Given the description of an element on the screen output the (x, y) to click on. 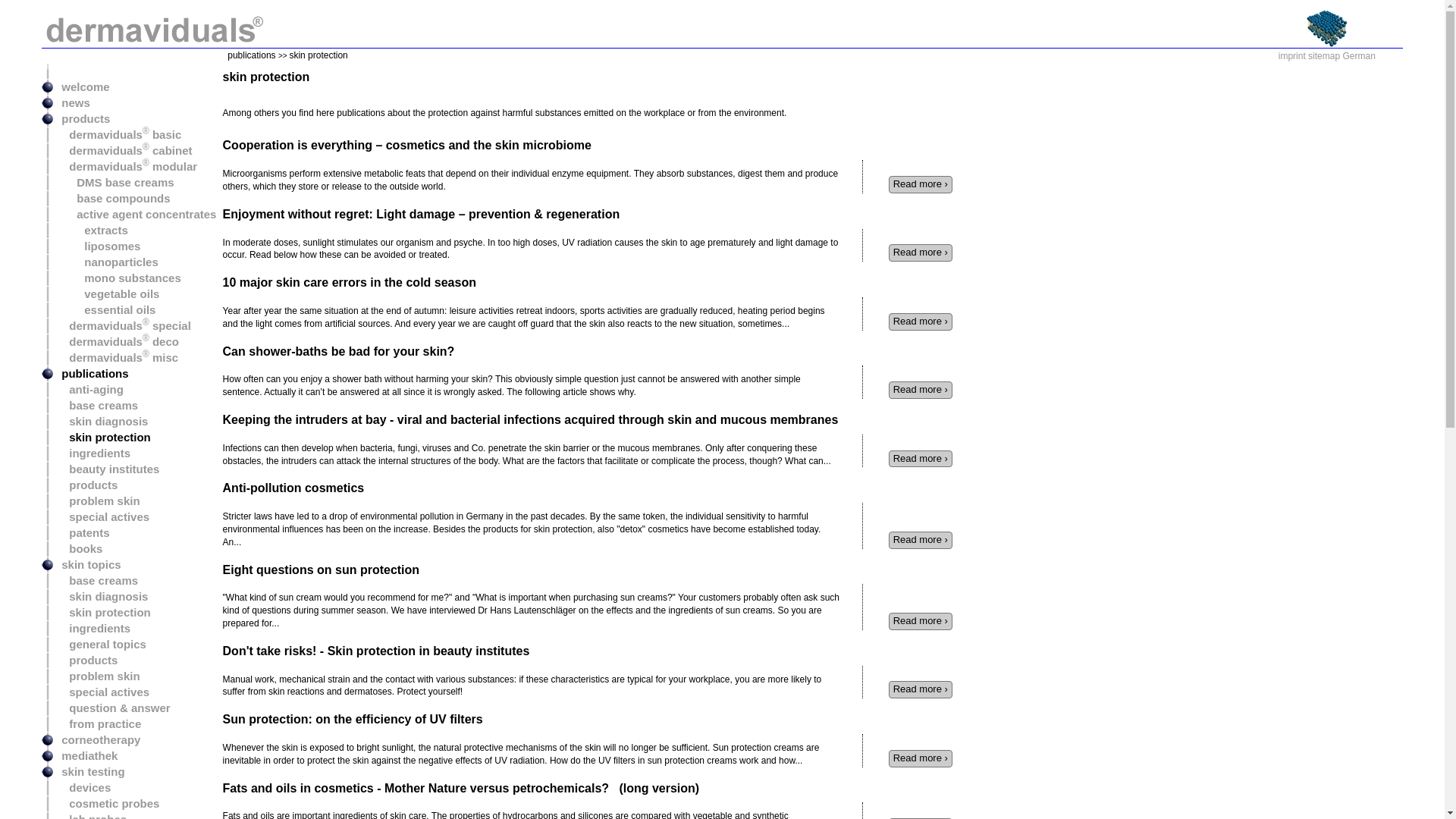
welcome (81, 86)
vegetable oils (105, 293)
sitemap (1323, 55)
DMS base creams (113, 182)
base creams (95, 580)
patents (81, 532)
nanoparticles (105, 261)
active agent concentrates (134, 214)
problem skin (96, 500)
books (77, 548)
